Given the description of an element on the screen output the (x, y) to click on. 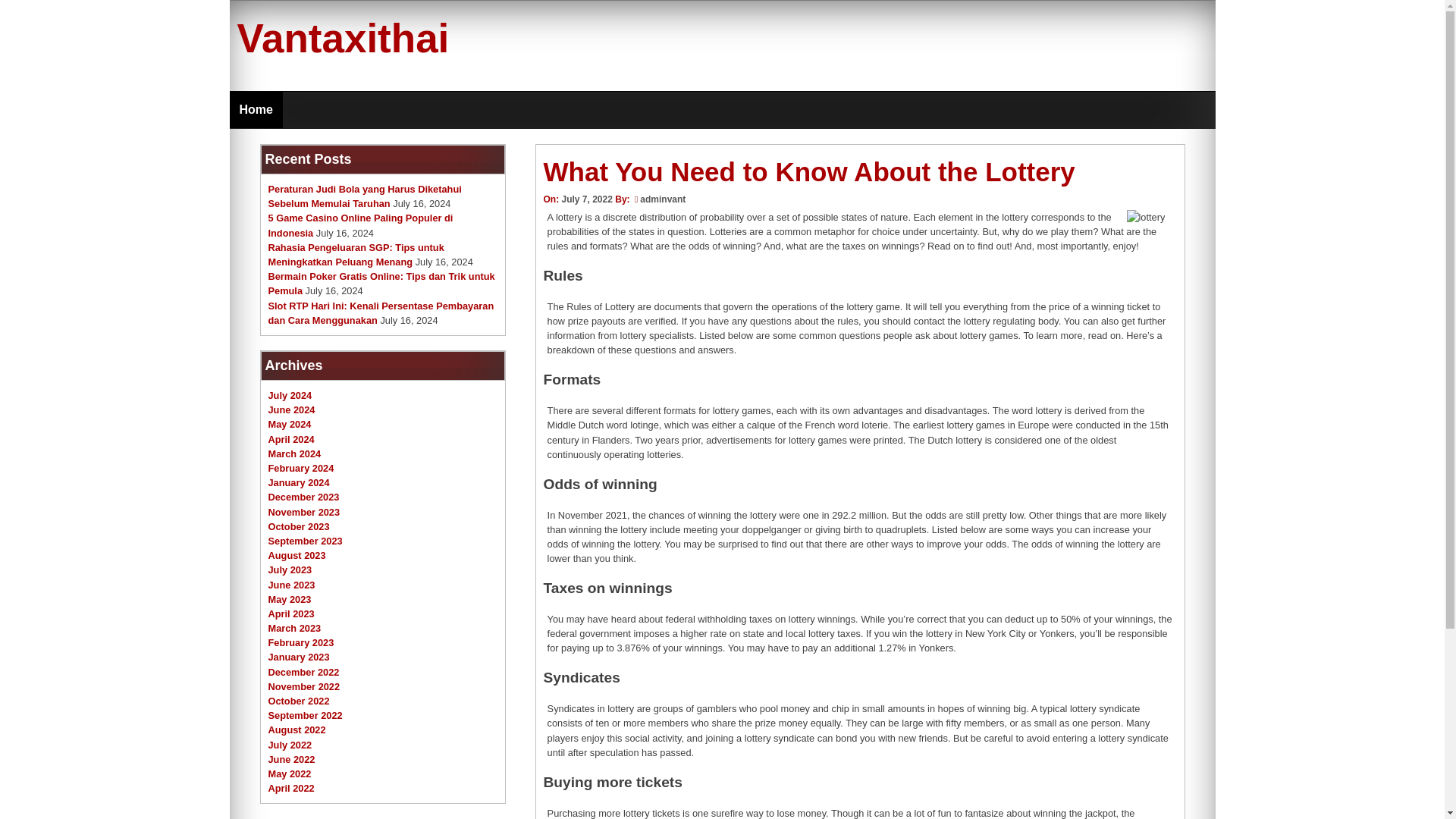
January 2024 (298, 482)
March 2023 (294, 627)
June 2023 (291, 584)
July 2023 (290, 569)
September 2022 (304, 715)
December 2022 (303, 672)
Home (255, 109)
June 2022 (291, 758)
5 Game Casino Online Paling Populer di Indonesia (359, 225)
October 2022 (298, 700)
August 2023 (296, 555)
January 2023 (298, 656)
December 2023 (303, 496)
July 2022 (290, 745)
